Given the description of an element on the screen output the (x, y) to click on. 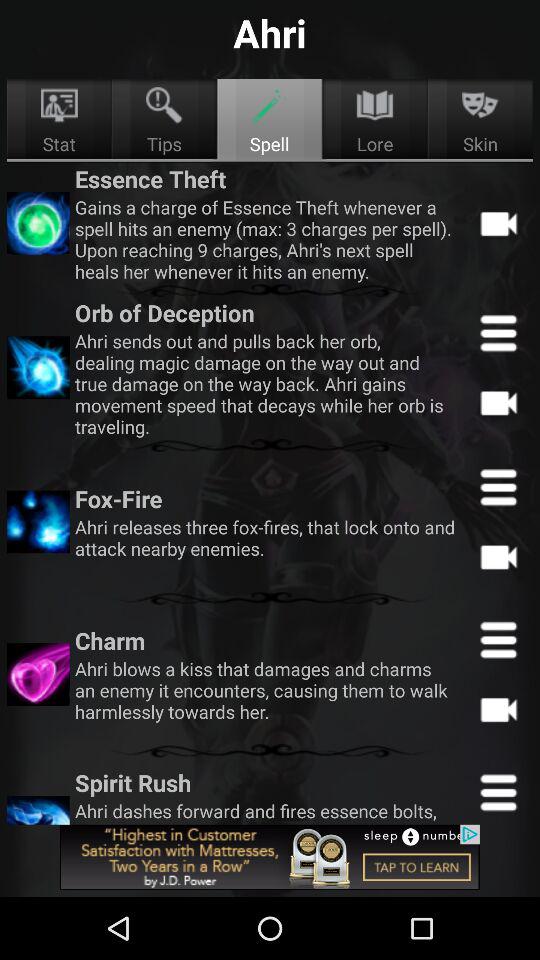
view info (498, 639)
